Given the description of an element on the screen output the (x, y) to click on. 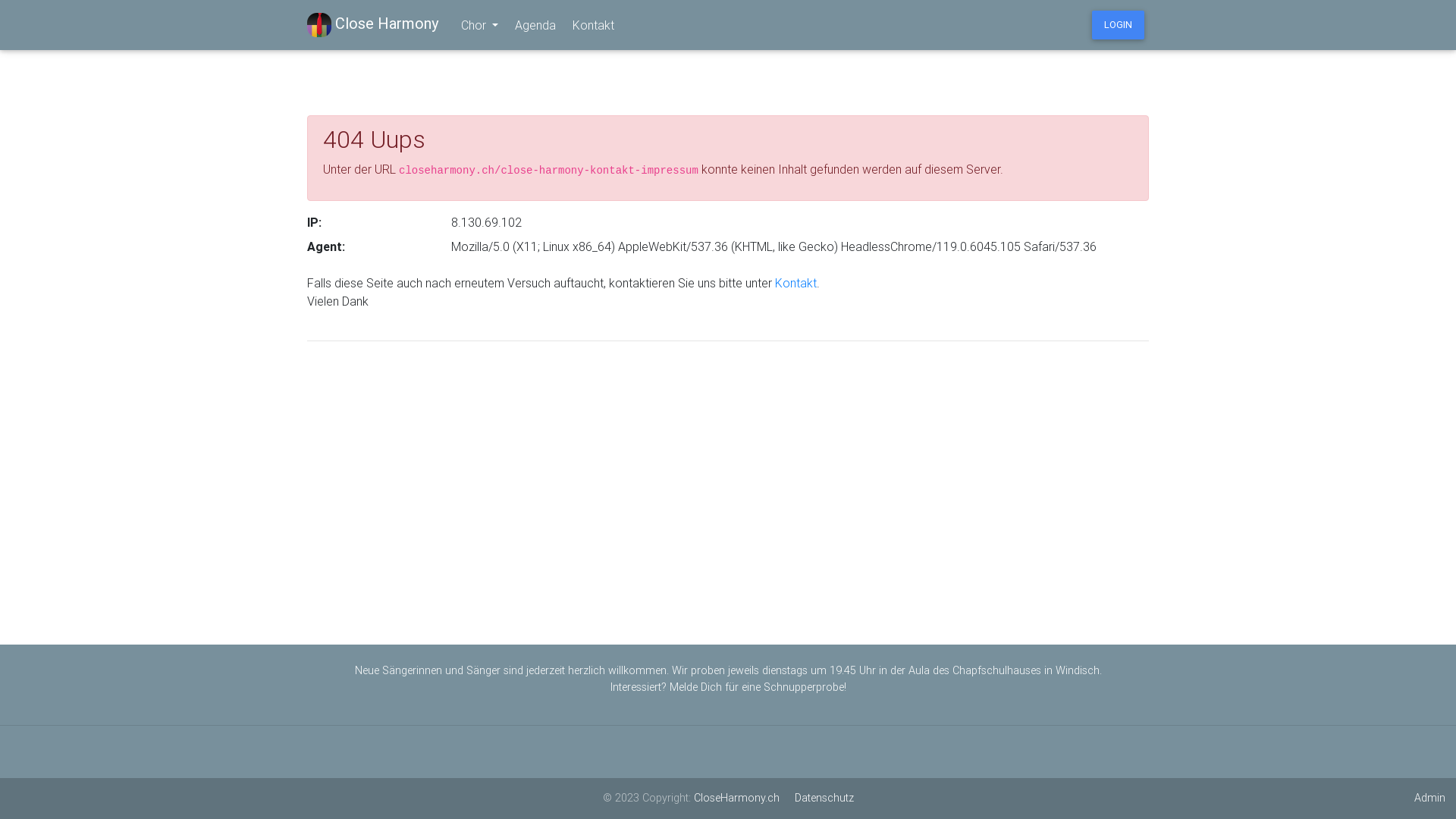
Admin Element type: text (1429, 798)
Twitter Element type: hover (727, 751)
Facebook Element type: hover (715, 751)
Kontakt Element type: hover (740, 751)
CloseHarmony.ch Element type: text (735, 797)
Chapfschulhauses in Windisch Element type: text (1025, 670)
Kontakt Element type: text (590, 24)
Close Harmony Element type: text (372, 24)
Datenschutz Element type: text (823, 797)
Chor Element type: text (477, 24)
Kontakt Element type: text (795, 282)
LOGIN Element type: text (1118, 24)
Agenda Element type: text (532, 24)
